Given the description of an element on the screen output the (x, y) to click on. 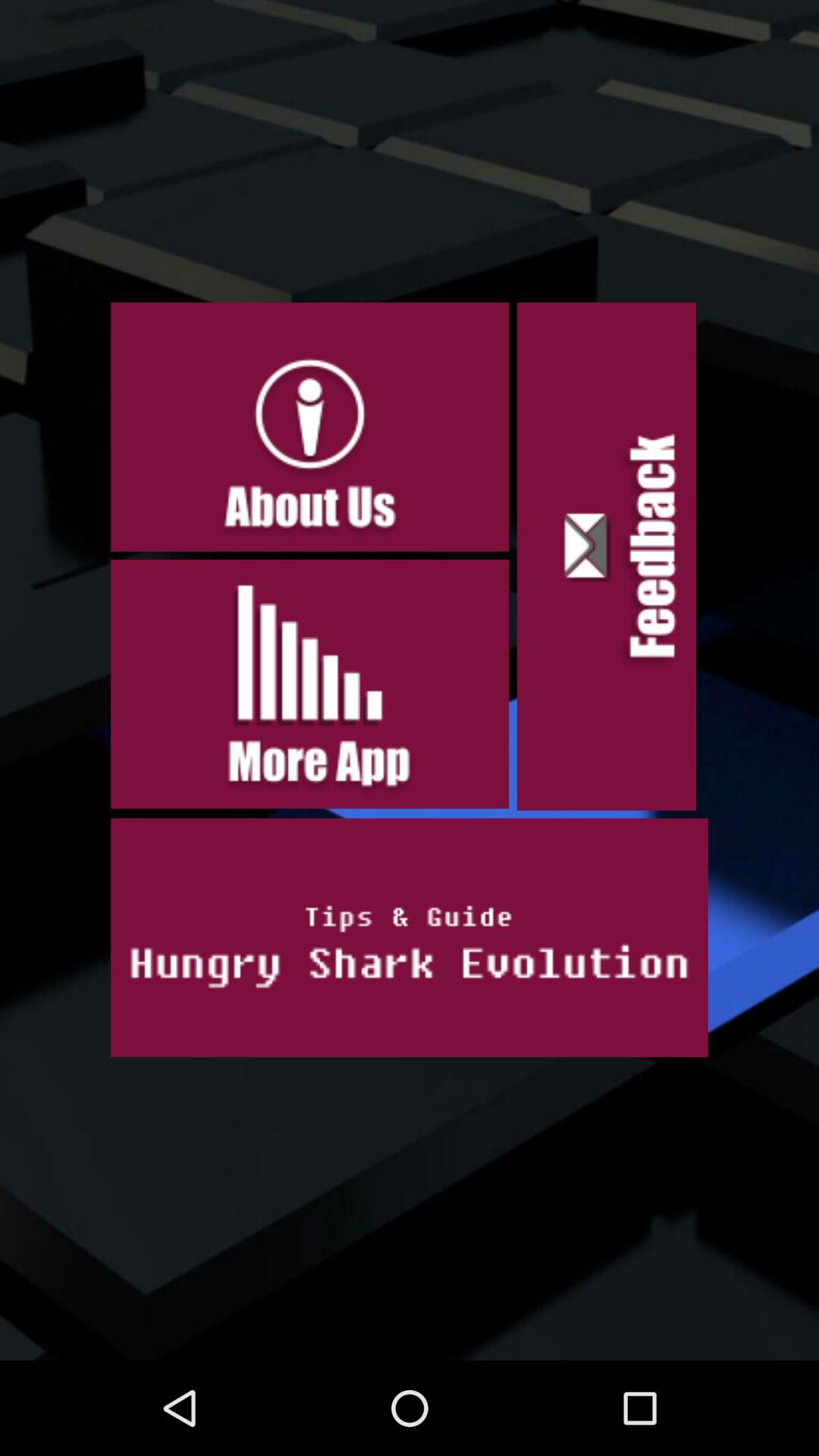
click icon at the top (309, 426)
